Given the description of an element on the screen output the (x, y) to click on. 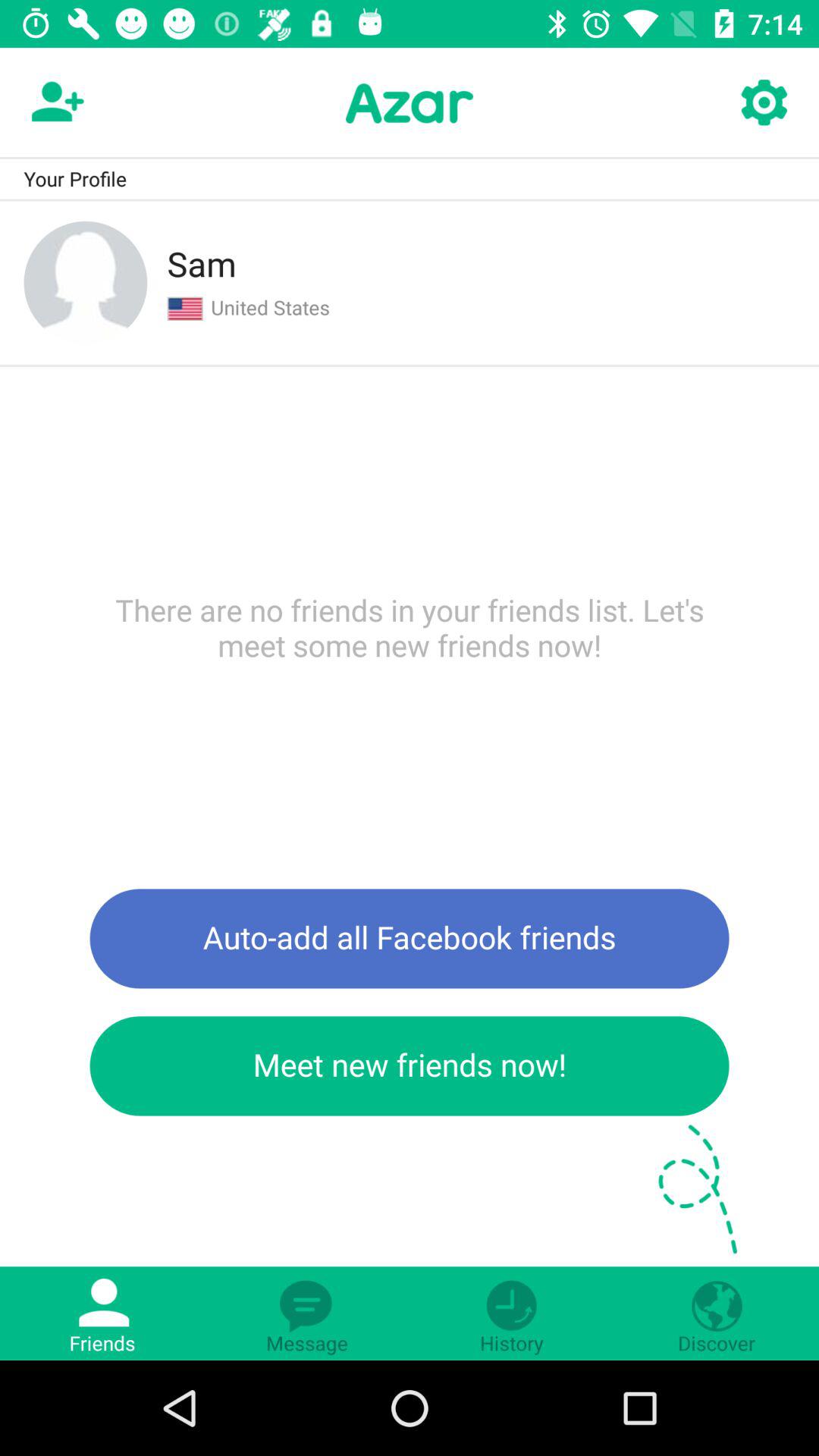
select item at the top right corner (763, 103)
